Given the description of an element on the screen output the (x, y) to click on. 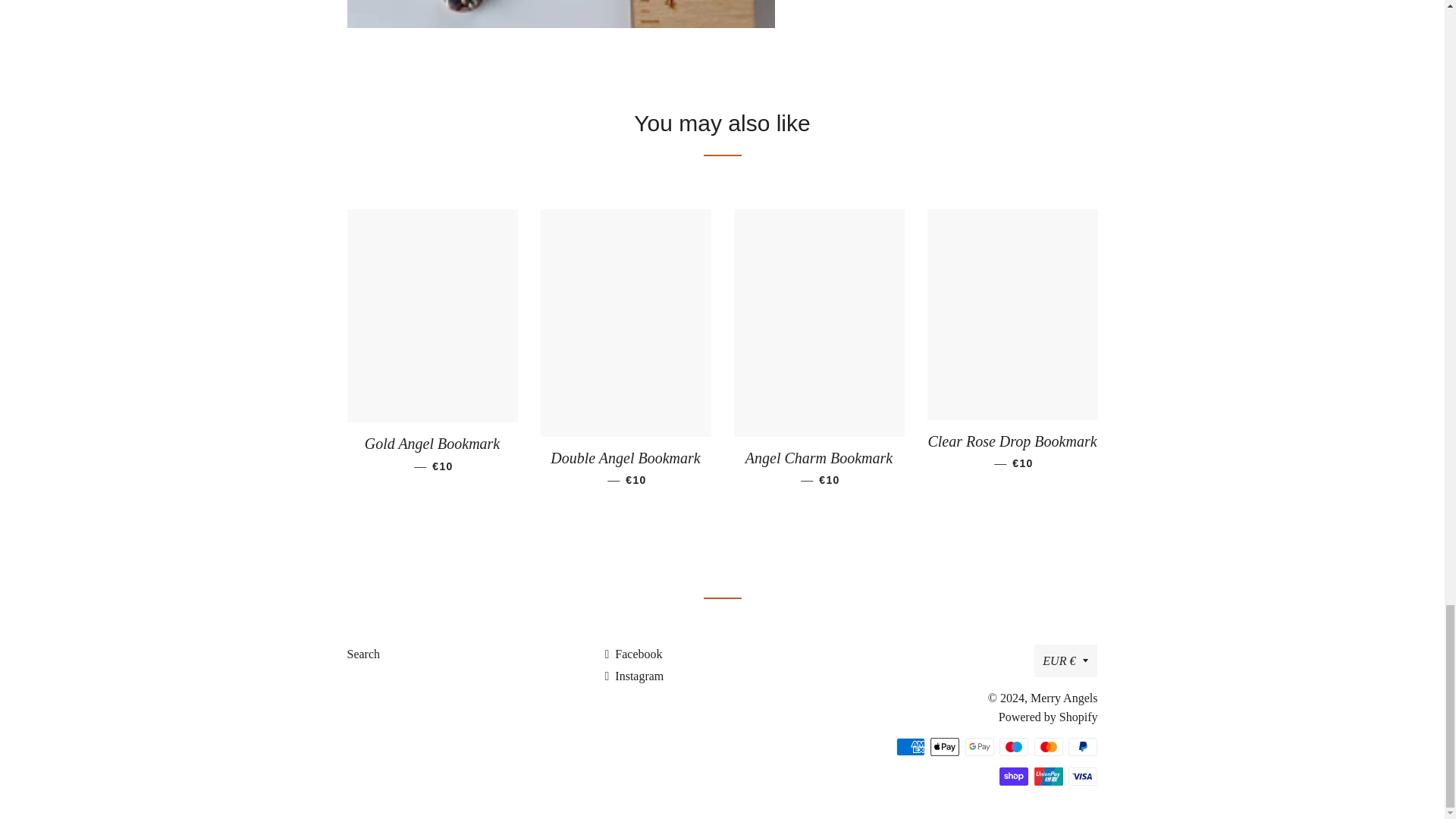
Union Pay (1047, 776)
Merry Angels on Facebook (633, 653)
Google Pay (979, 746)
Merry Angels on Instagram (633, 675)
American Express (910, 746)
PayPal (1082, 746)
Shop Pay (1012, 776)
Maestro (1012, 746)
Apple Pay (944, 746)
Mastercard (1047, 746)
Visa (1082, 776)
